Given the description of an element on the screen output the (x, y) to click on. 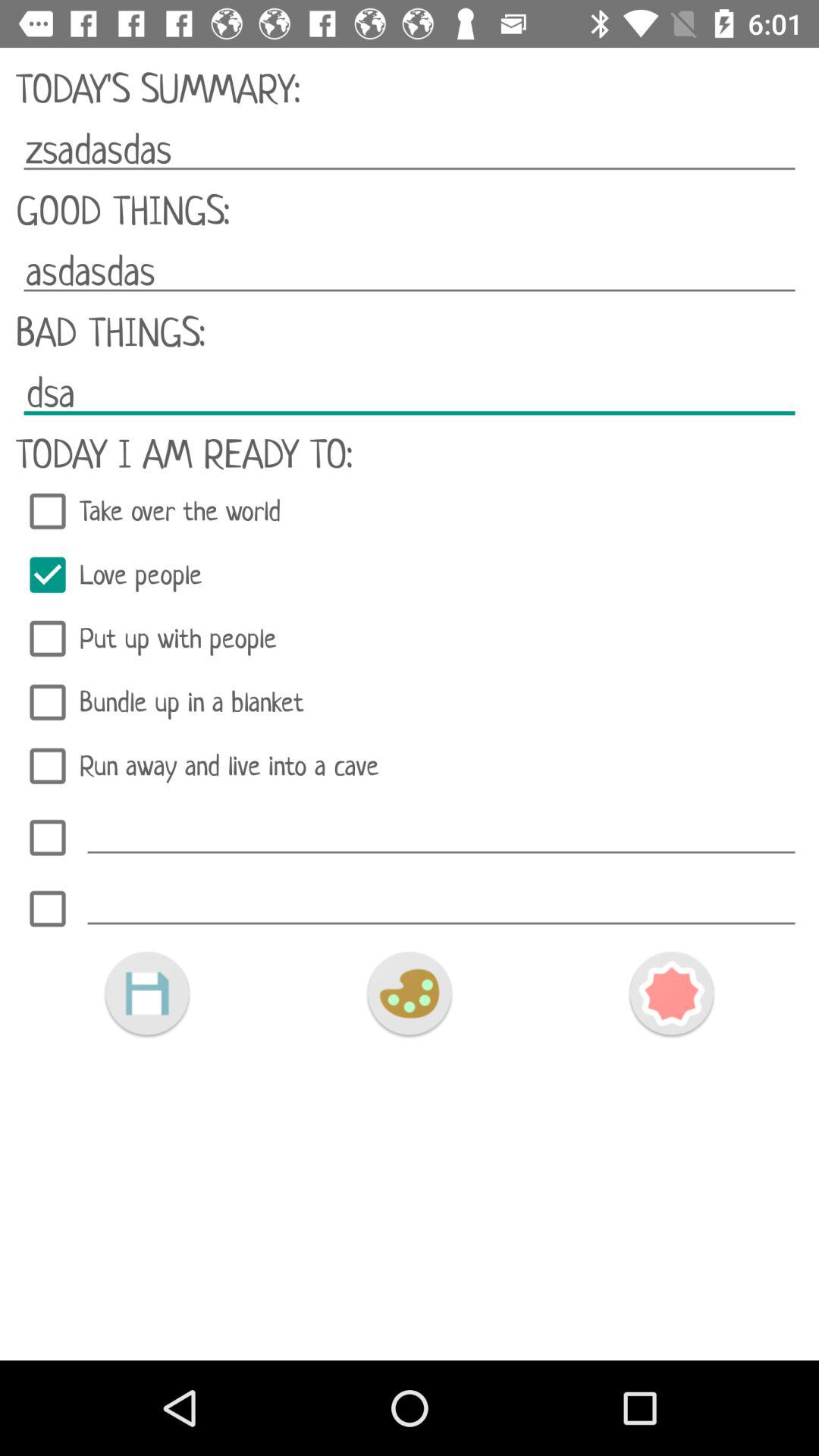
select icon below today i am (409, 511)
